Given the description of an element on the screen output the (x, y) to click on. 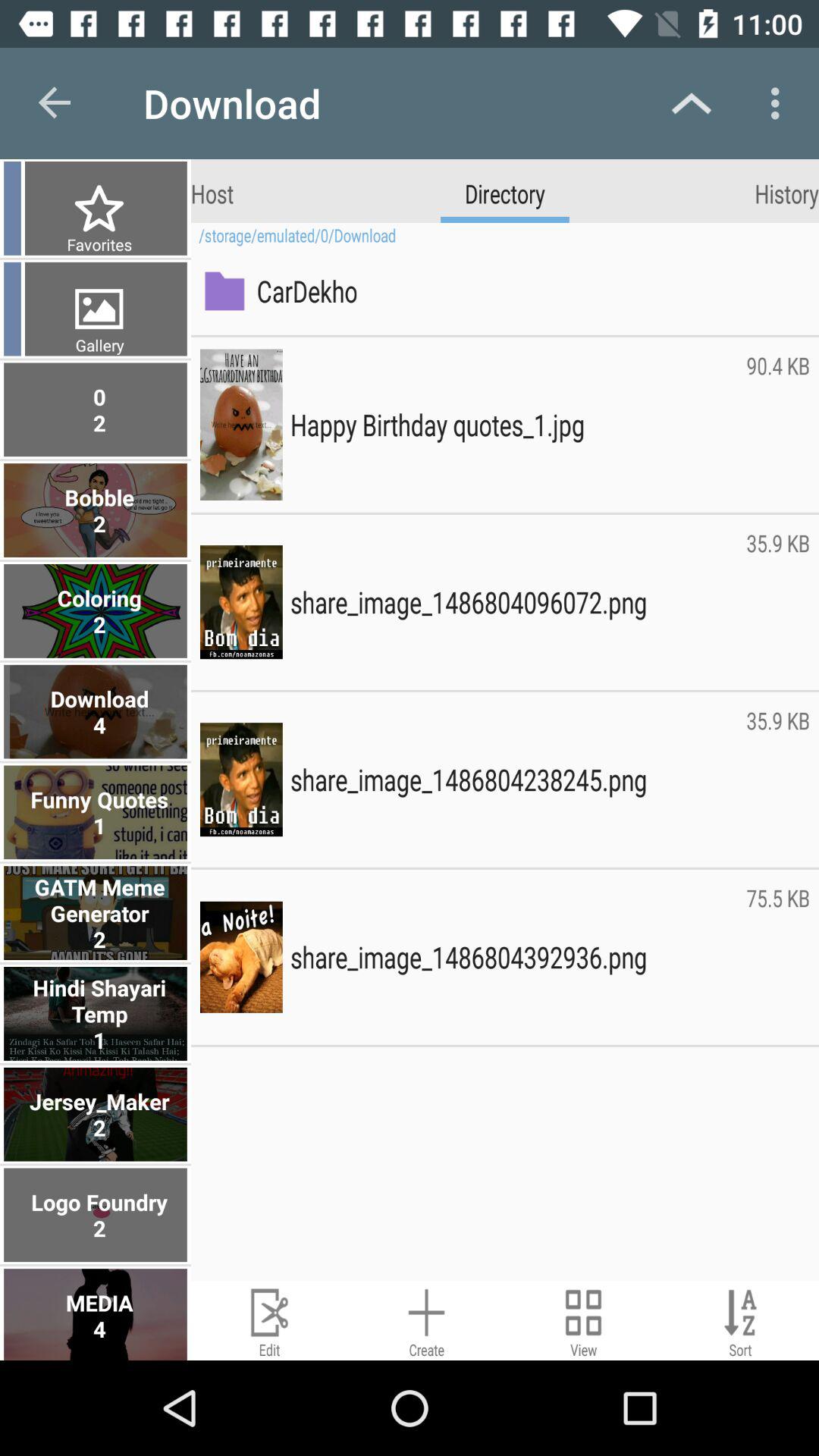
sort a to z (740, 1320)
